Given the description of an element on the screen output the (x, y) to click on. 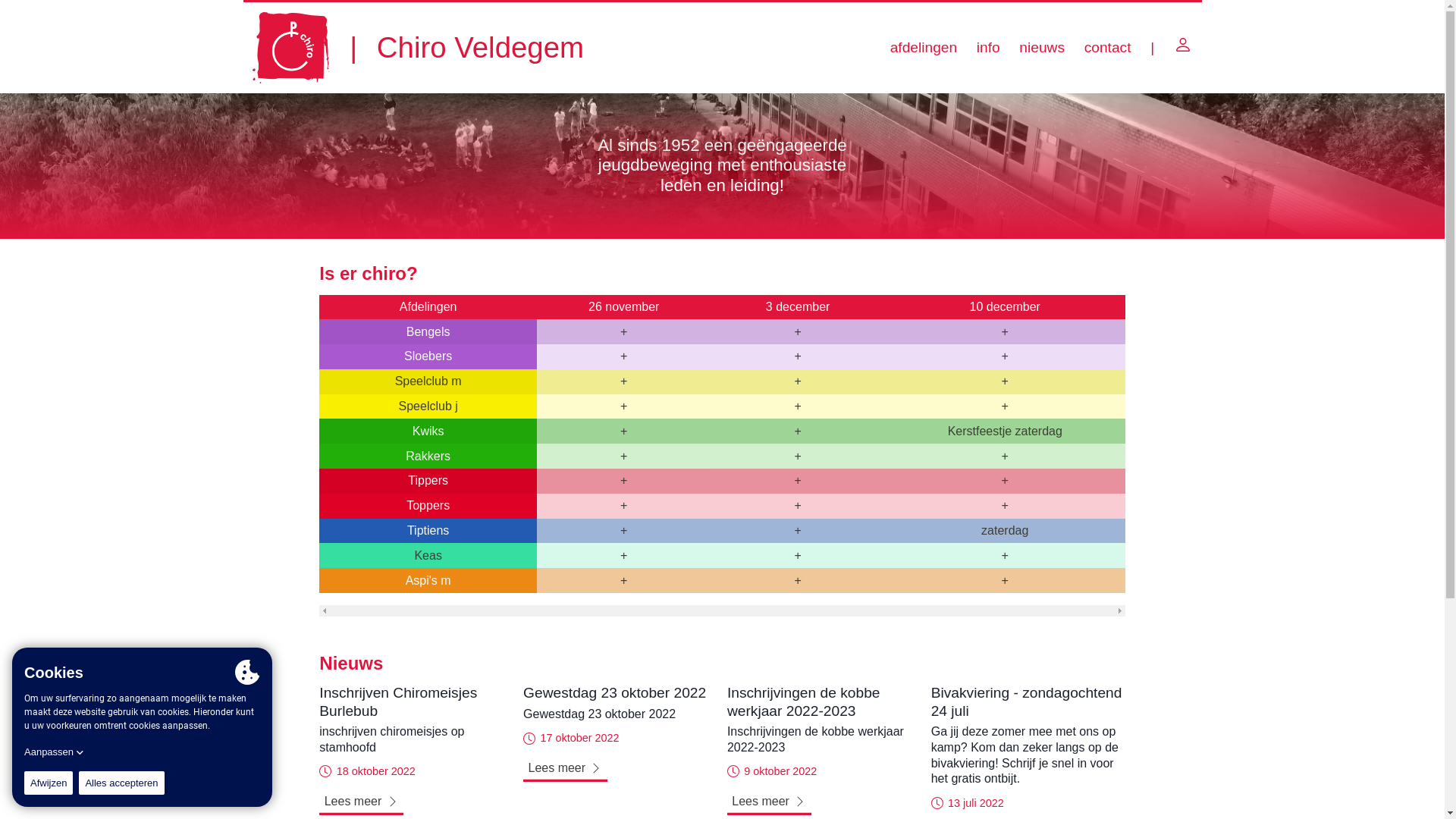
contact Element type: text (1107, 48)
info Element type: text (988, 48)
afdelingen Element type: text (923, 48)
Speelclub j Element type: text (428, 405)
Keas Element type: text (427, 555)
Tippers Element type: text (427, 479)
|
Chiro Veldegem Element type: text (417, 47)
Nieuws Element type: text (721, 663)
Toppers Element type: text (427, 504)
Sloebers Element type: text (427, 355)
Rakkers Element type: text (427, 455)
Speelclub m Element type: text (428, 380)
Lees meer Element type: text (416, 801)
Aspi's m Element type: text (428, 579)
Bengels Element type: text (428, 331)
Lees meer Element type: text (824, 801)
Lees meer Element type: text (620, 767)
nieuws Element type: text (1041, 48)
Kwiks Element type: text (428, 430)
Tiptiens Element type: text (427, 530)
